Given the description of an element on the screen output the (x, y) to click on. 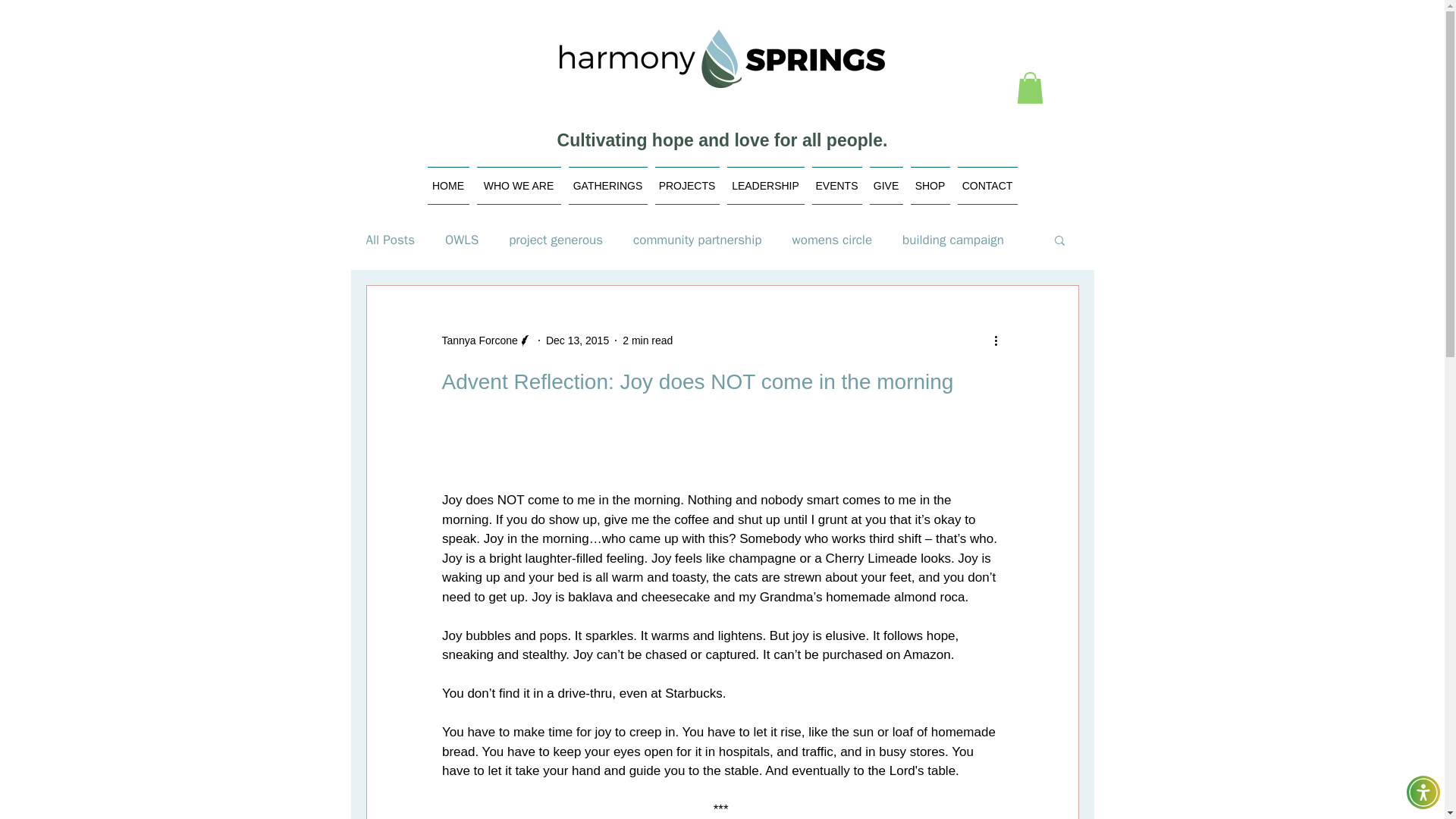
project generous (555, 239)
womens circle (832, 239)
Harmony Springs Church (722, 58)
GIVE (886, 185)
Accessibility Menu (1422, 792)
SHOP (930, 185)
CONTACT (985, 185)
Dec 13, 2015 (577, 340)
community partnership (697, 239)
Tannya Forcone (478, 340)
building campaign (953, 239)
2 min read (647, 340)
LEADERSHIP (765, 185)
All Posts (389, 239)
OWLS (462, 239)
